Given the description of an element on the screen output the (x, y) to click on. 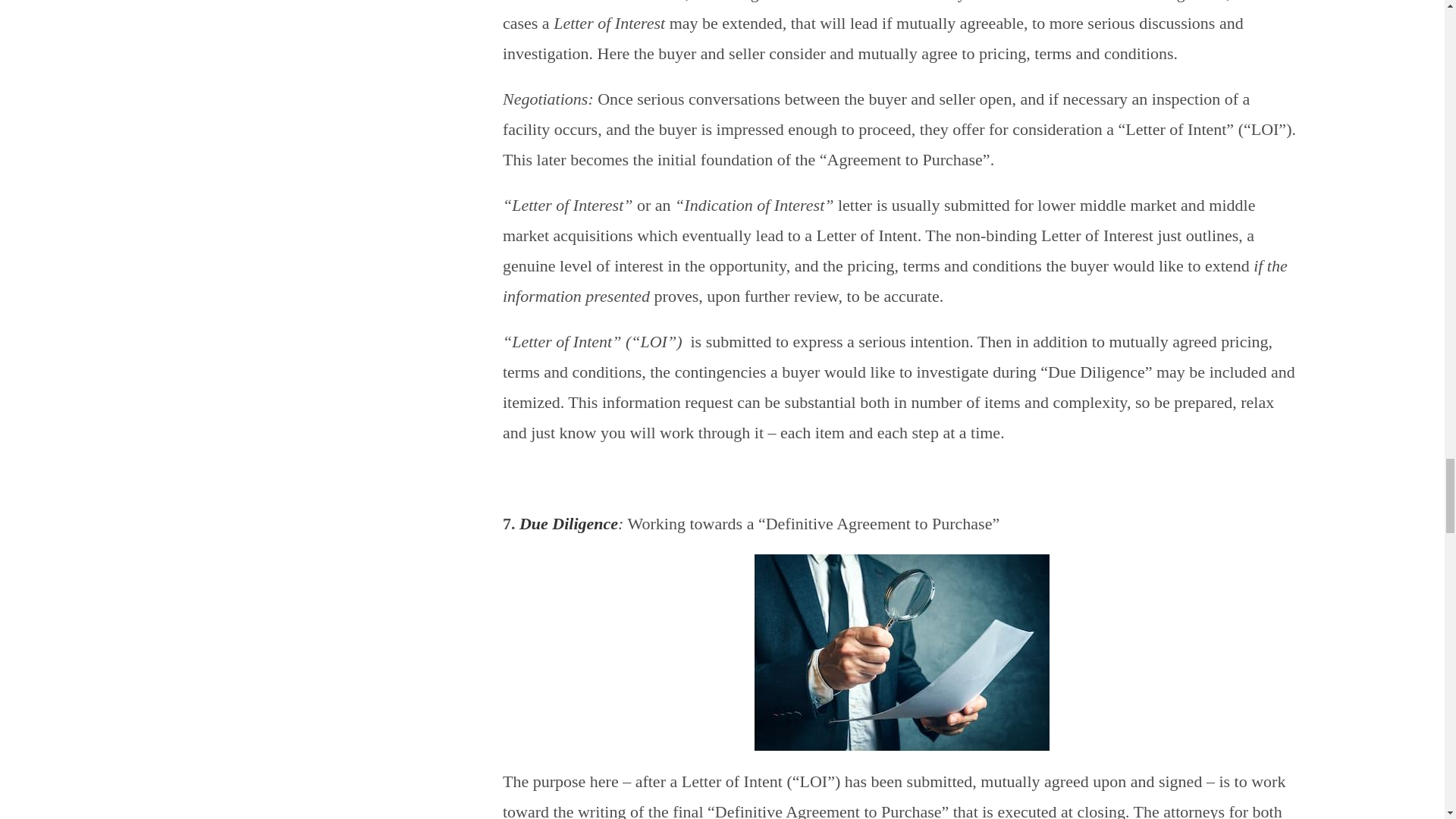
Due Diligence (568, 523)
